Given the description of an element on the screen output the (x, y) to click on. 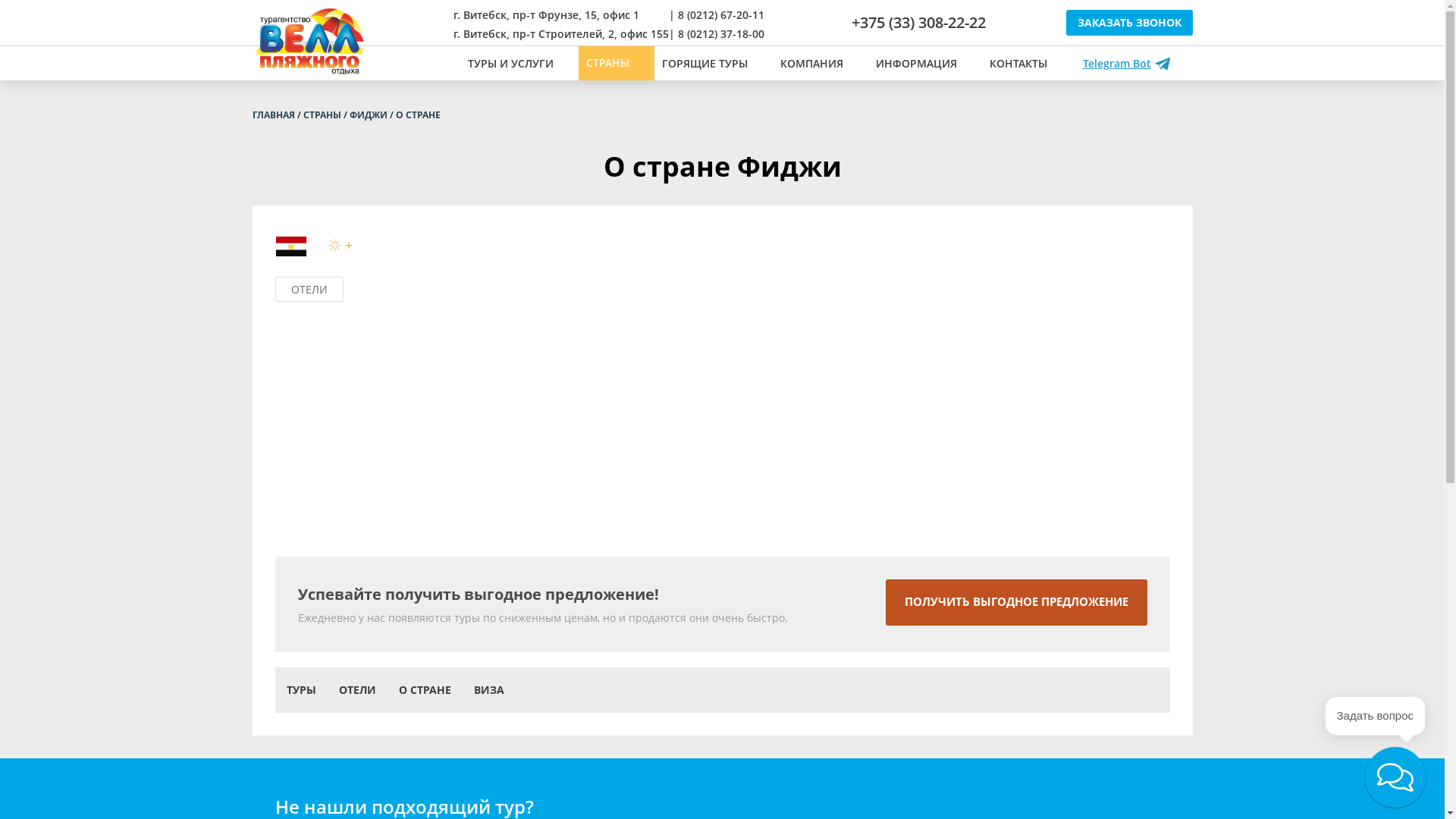
+375 (33) 308-22-22 Element type: text (917, 22)
Telegram Bot Element type: text (1126, 63)
8 (0212) 67-20-11 Element type: text (720, 14)
8 (0212) 37-18-00 Element type: text (720, 32)
